Given the description of an element on the screen output the (x, y) to click on. 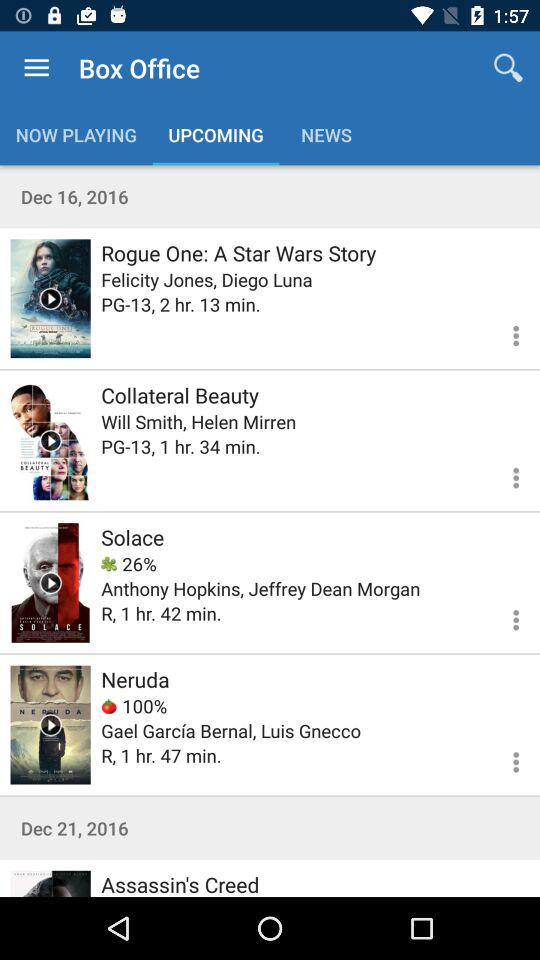
open menu for rogue one (503, 332)
